Given the description of an element on the screen output the (x, y) to click on. 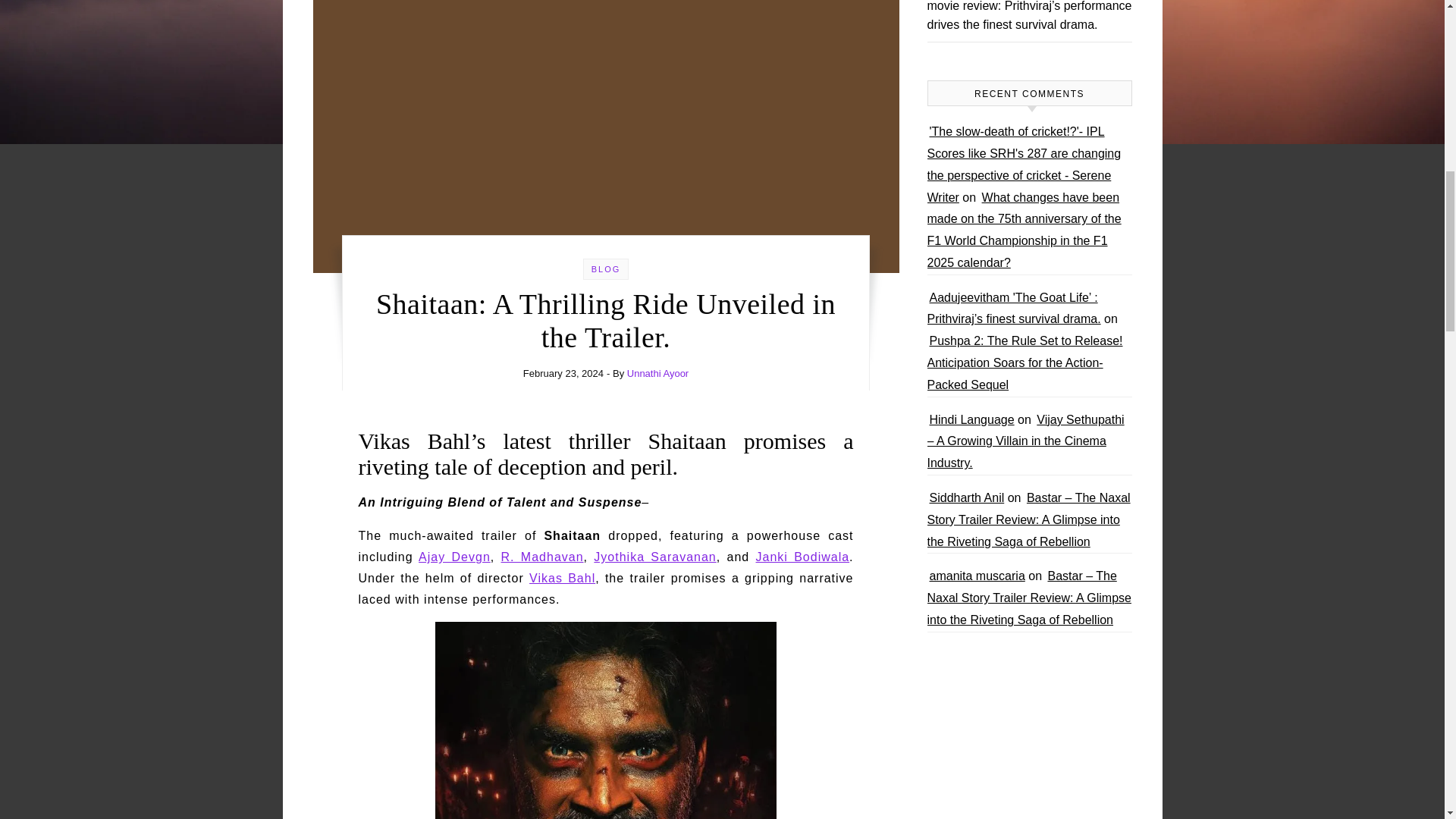
Jyothika Saravanan (655, 556)
Posts by Unnathi Ayoor (657, 373)
BLOG (606, 268)
Unnathi Ayoor (657, 373)
R. Madhavan (541, 556)
Ajay Devgn (454, 556)
Janki Bodiwala (802, 556)
